Given the description of an element on the screen output the (x, y) to click on. 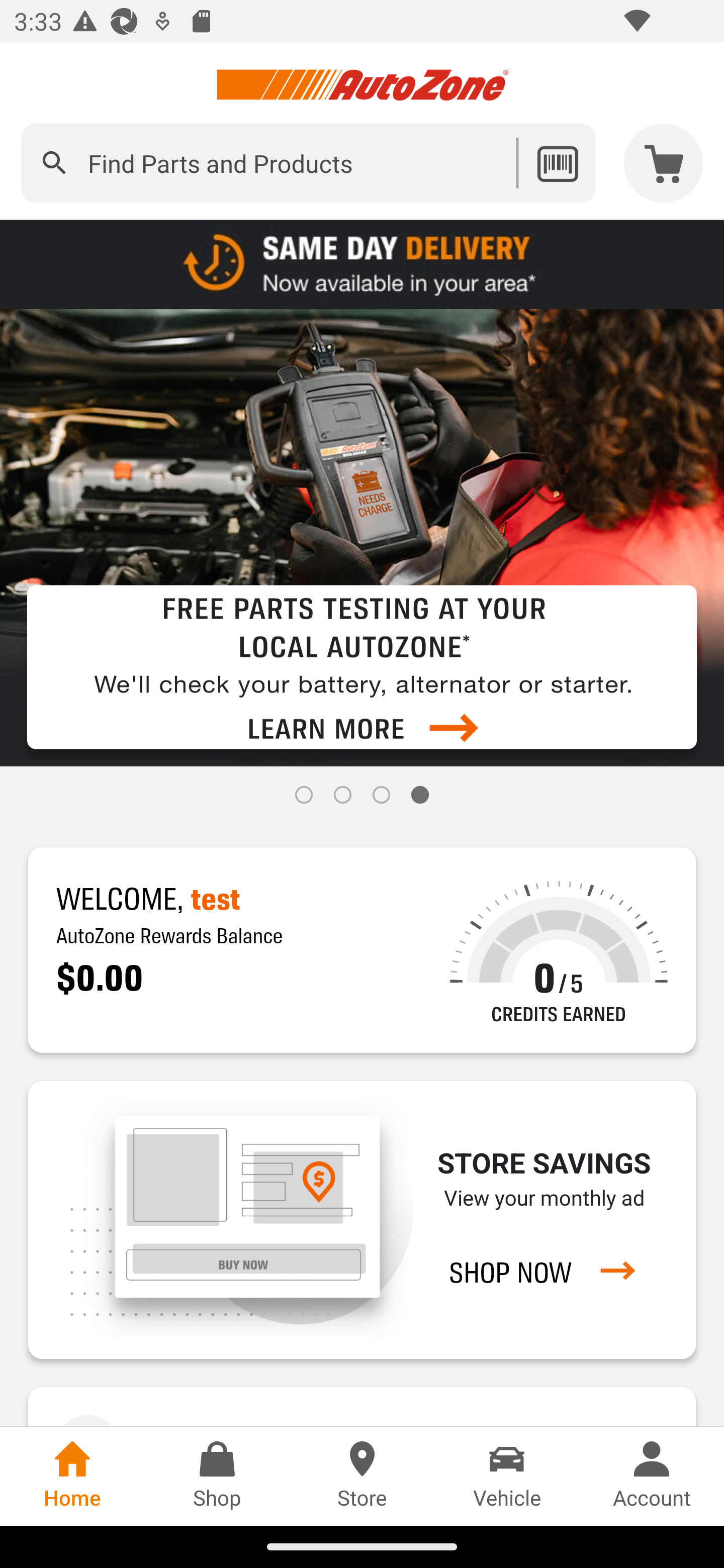
 scan-product-to-search  (557, 162)
 (54, 163)
Cart, no items  (663, 162)
Same Day Delivery - now available in your area* (362, 262)
Home (72, 1475)
Shop (216, 1475)
Store (361, 1475)
Vehicle (506, 1475)
Account (651, 1475)
